Given the description of an element on the screen output the (x, y) to click on. 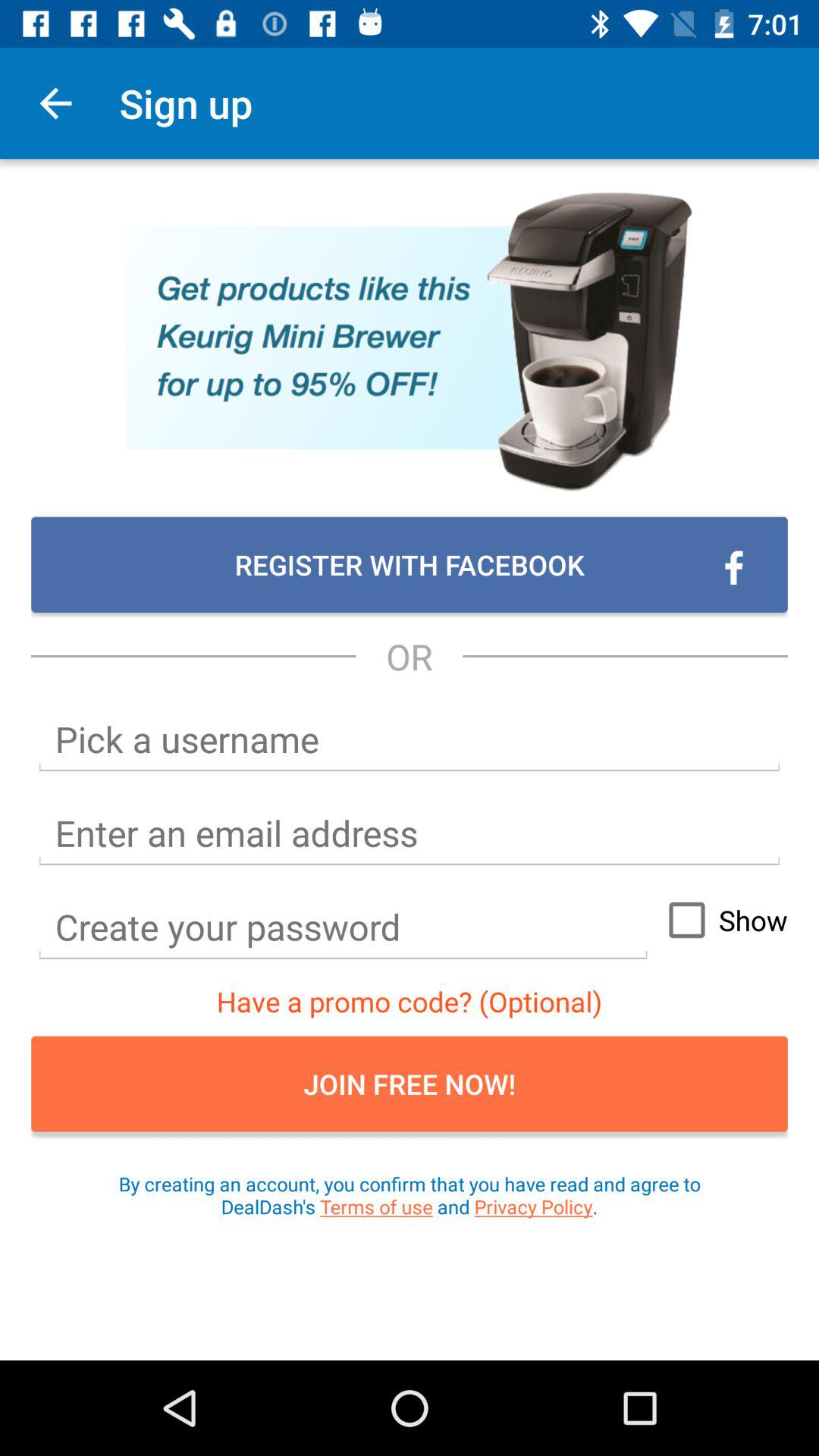
choose item to the left of show (343, 927)
